Given the description of an element on the screen output the (x, y) to click on. 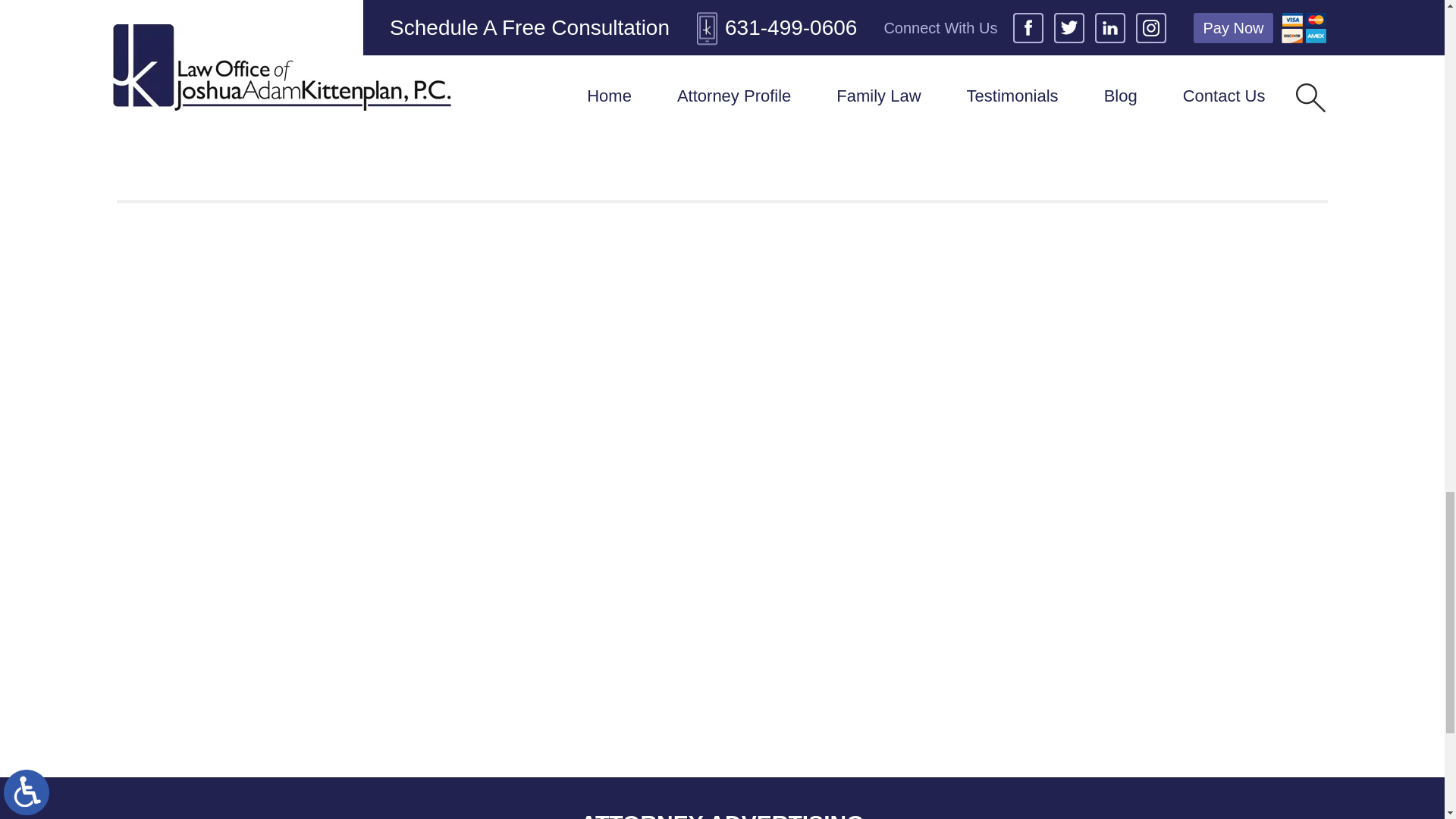
Facebook (140, 35)
2022-11-29T03:00:09-0800 (355, 66)
Twitter (152, 35)
LinkedIn (162, 35)
